Given the description of an element on the screen output the (x, y) to click on. 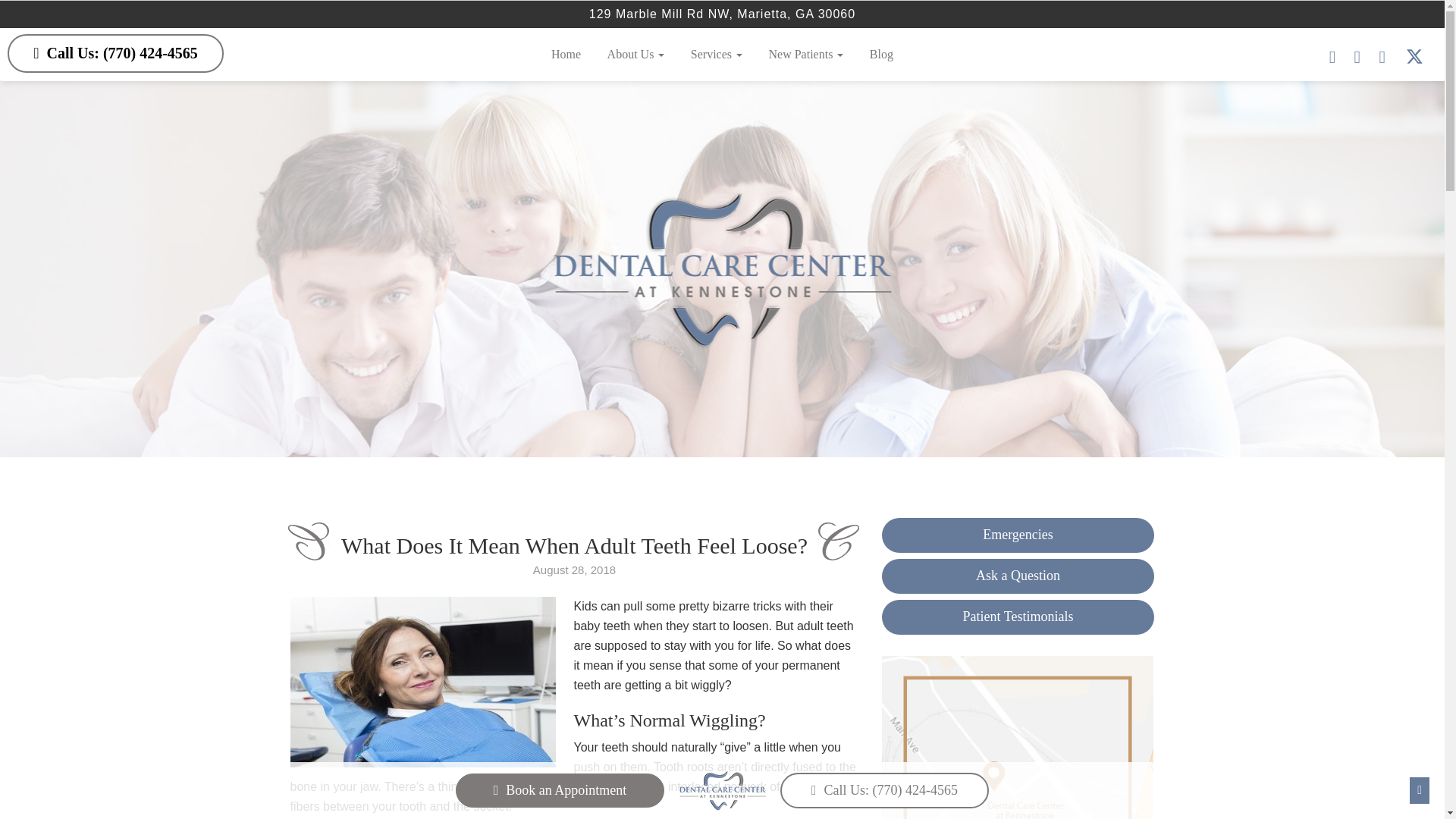
Services (716, 54)
Home (566, 54)
About Us (636, 54)
